Given the description of an element on the screen output the (x, y) to click on. 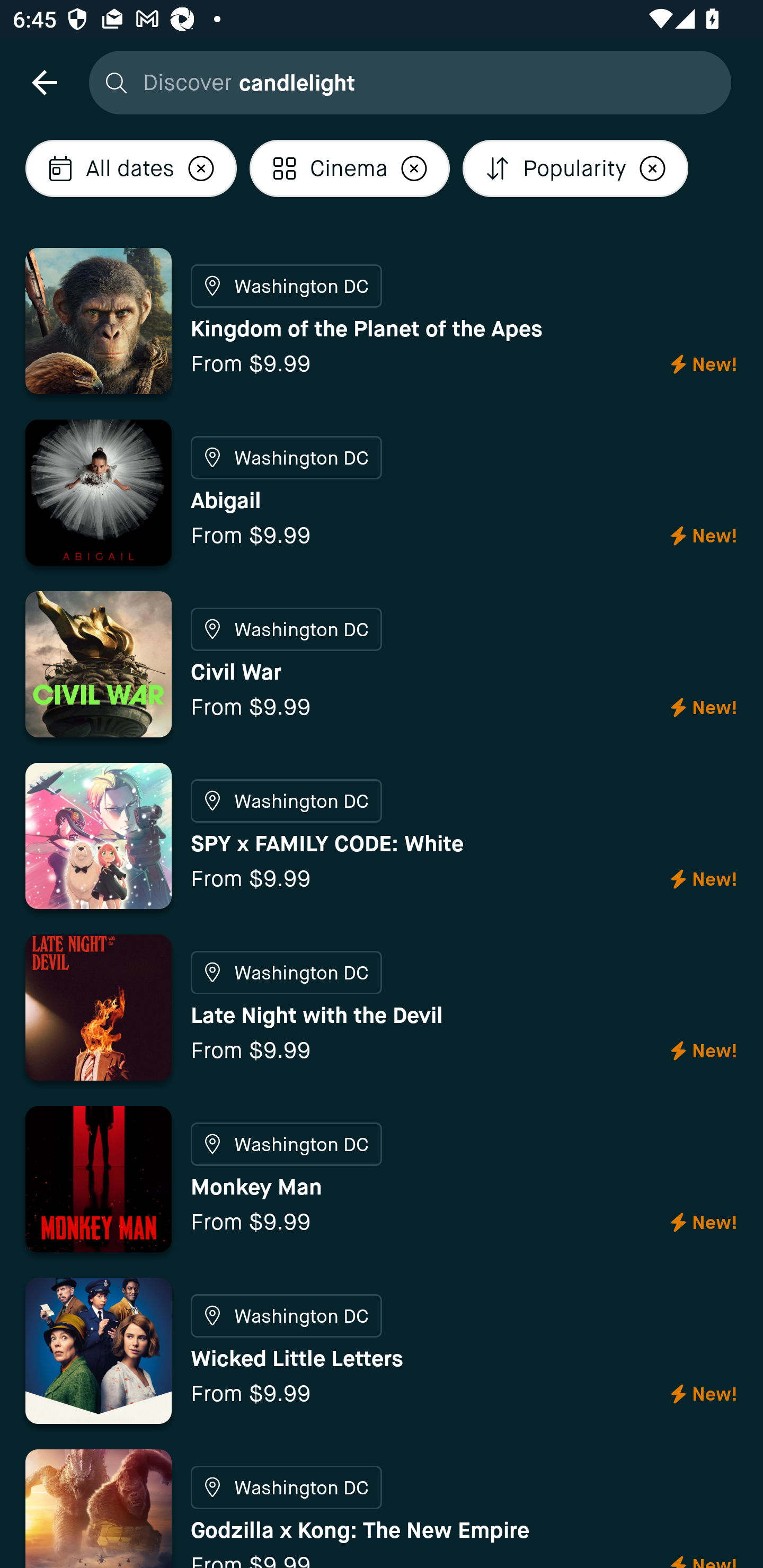
navigation icon (44, 81)
Discover candlelight (405, 81)
Localized description (201, 168)
Localized description Cinema Localized description (349, 168)
Localized description (414, 168)
Localized description (652, 168)
